Given the description of an element on the screen output the (x, y) to click on. 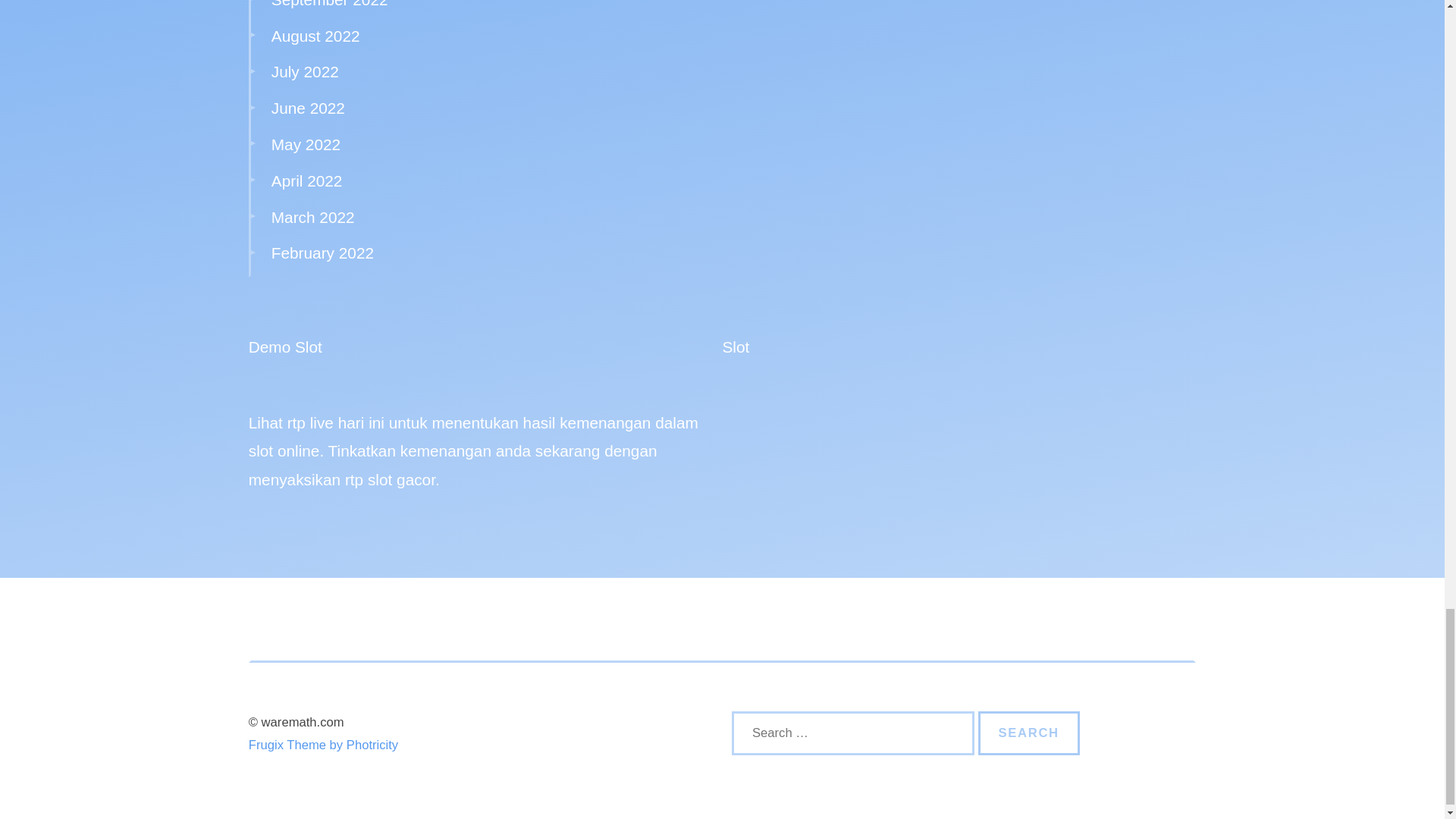
June 2022 (307, 108)
Search (1029, 733)
Search (1029, 733)
July 2022 (304, 71)
September 2022 (329, 4)
August 2022 (314, 36)
